Given the description of an element on the screen output the (x, y) to click on. 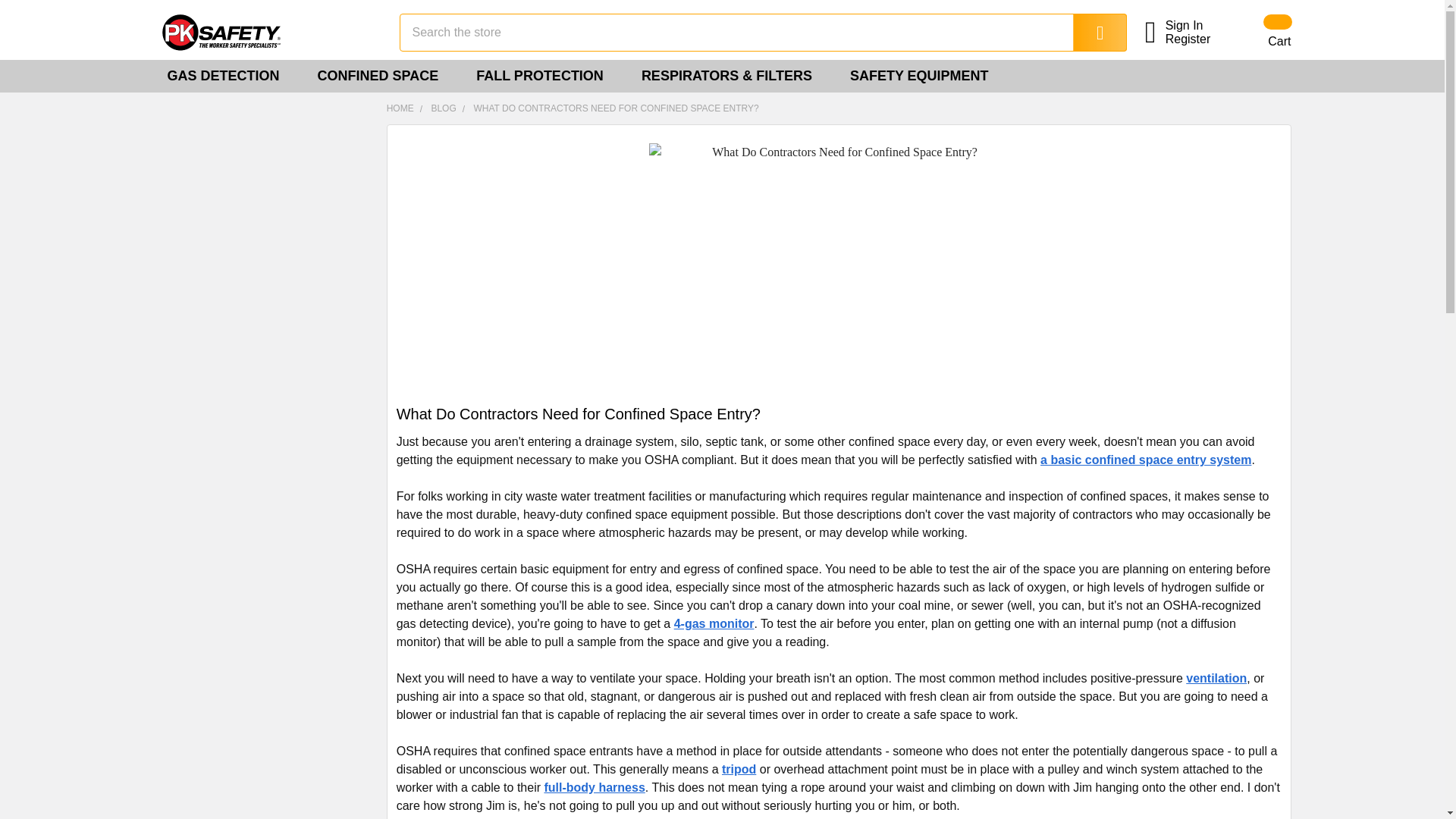
What Do Contractors Need for Confined Space Entry? (838, 269)
PK Safety Supply (266, 32)
CONFINED SPACE (383, 75)
Sign In (1197, 25)
Cart (1259, 31)
Search (1088, 32)
Search (1088, 32)
Register (1197, 38)
GAS DETECTION (227, 75)
Cart (1259, 31)
